Given the description of an element on the screen output the (x, y) to click on. 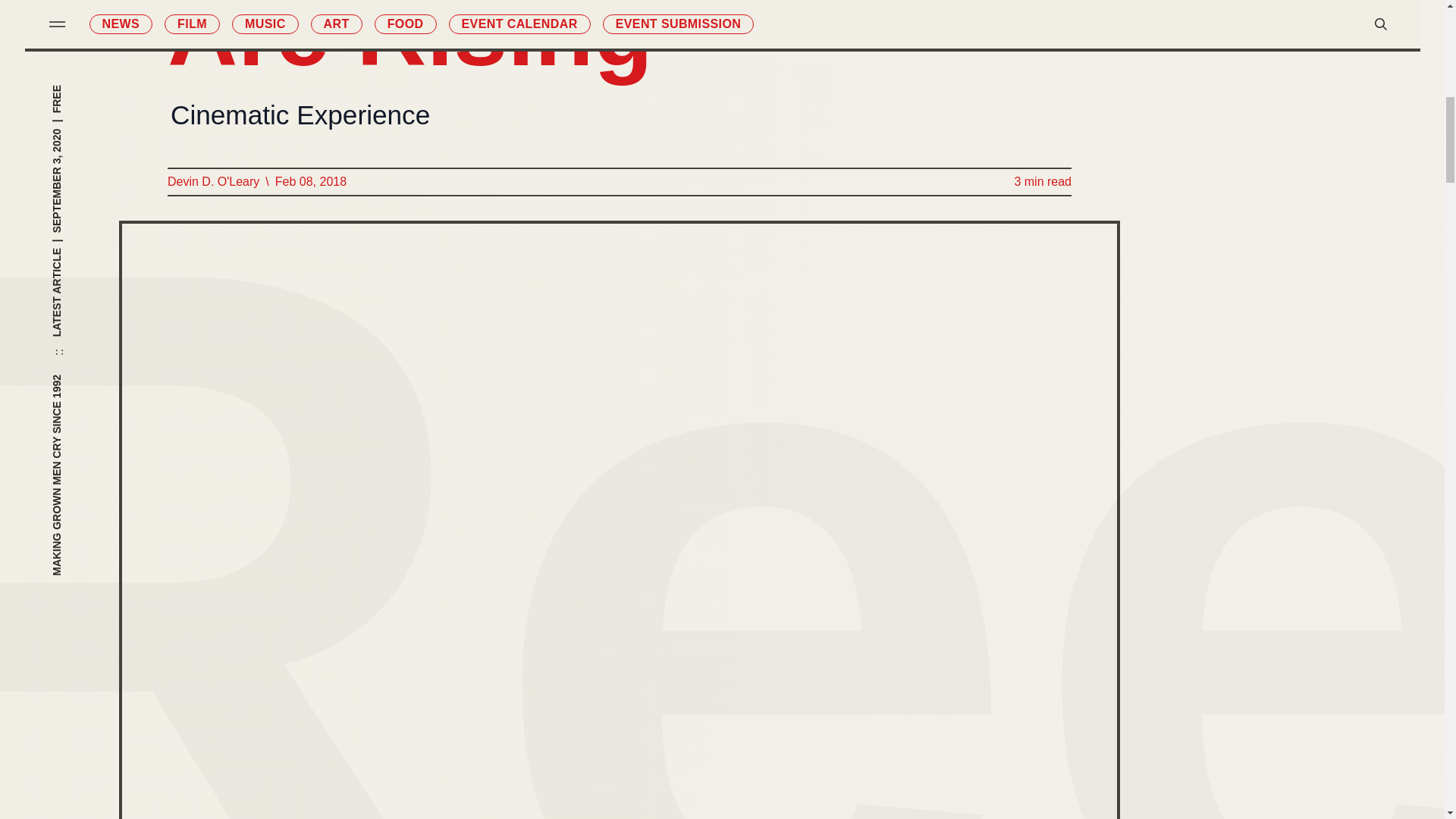
Devin D. O'Leary (213, 181)
